Given the description of an element on the screen output the (x, y) to click on. 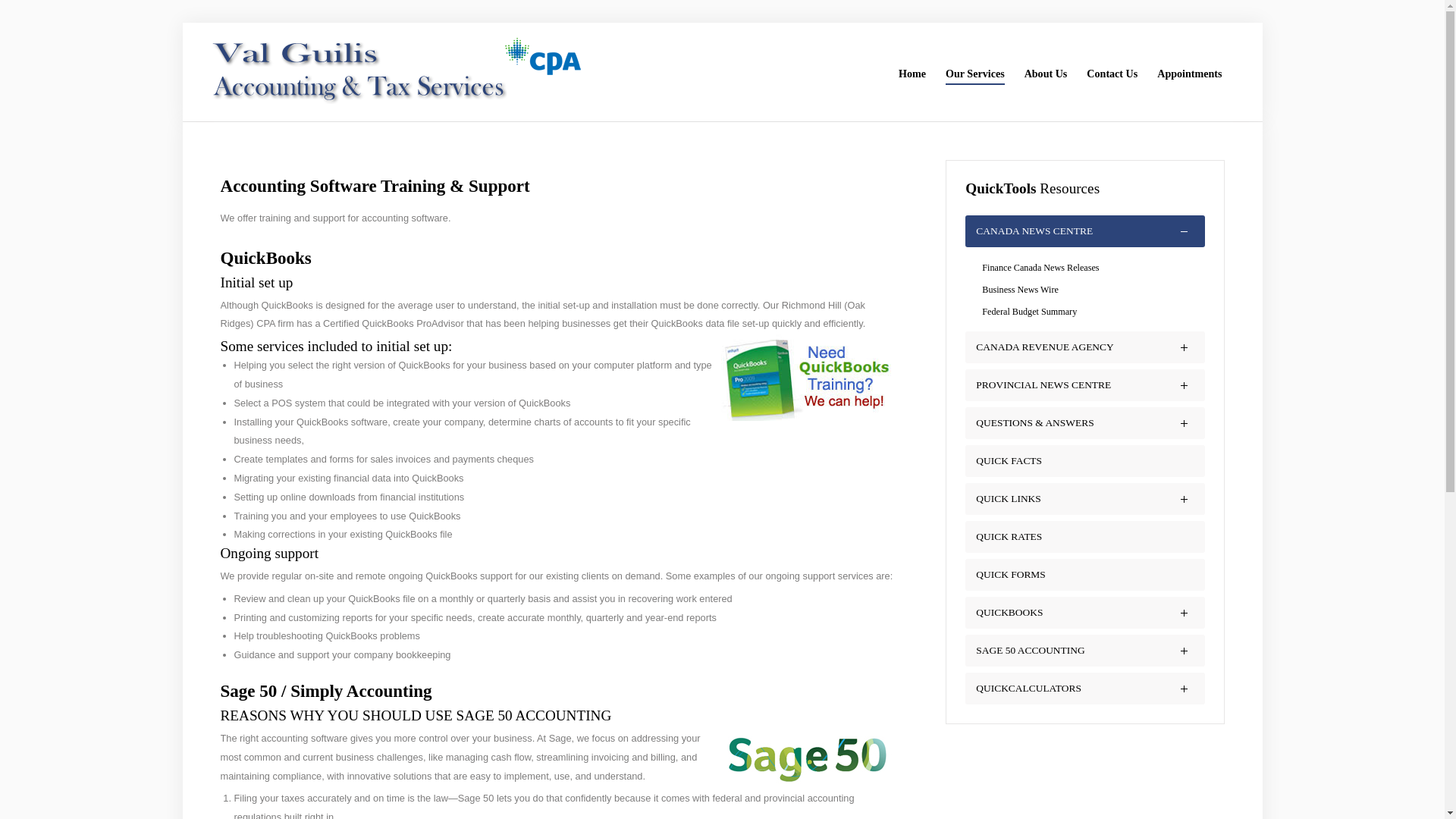
Contact Us (1111, 73)
QUICK FORMS (1010, 573)
Our Services (974, 74)
QUICK FACTS (1008, 460)
QUICK LINKS (1008, 498)
Federal Budget Summary (1084, 312)
Finance Canada News Releases (1084, 267)
CANADA REVENUE AGENCY (1044, 346)
About Us (1046, 73)
Business News Wire (1084, 289)
QUICK RATES (1008, 536)
CANADA NEWS CENTRE (1034, 230)
Appointments (1189, 73)
PROVINCIAL NEWS CENTRE (1042, 384)
